Given the description of an element on the screen output the (x, y) to click on. 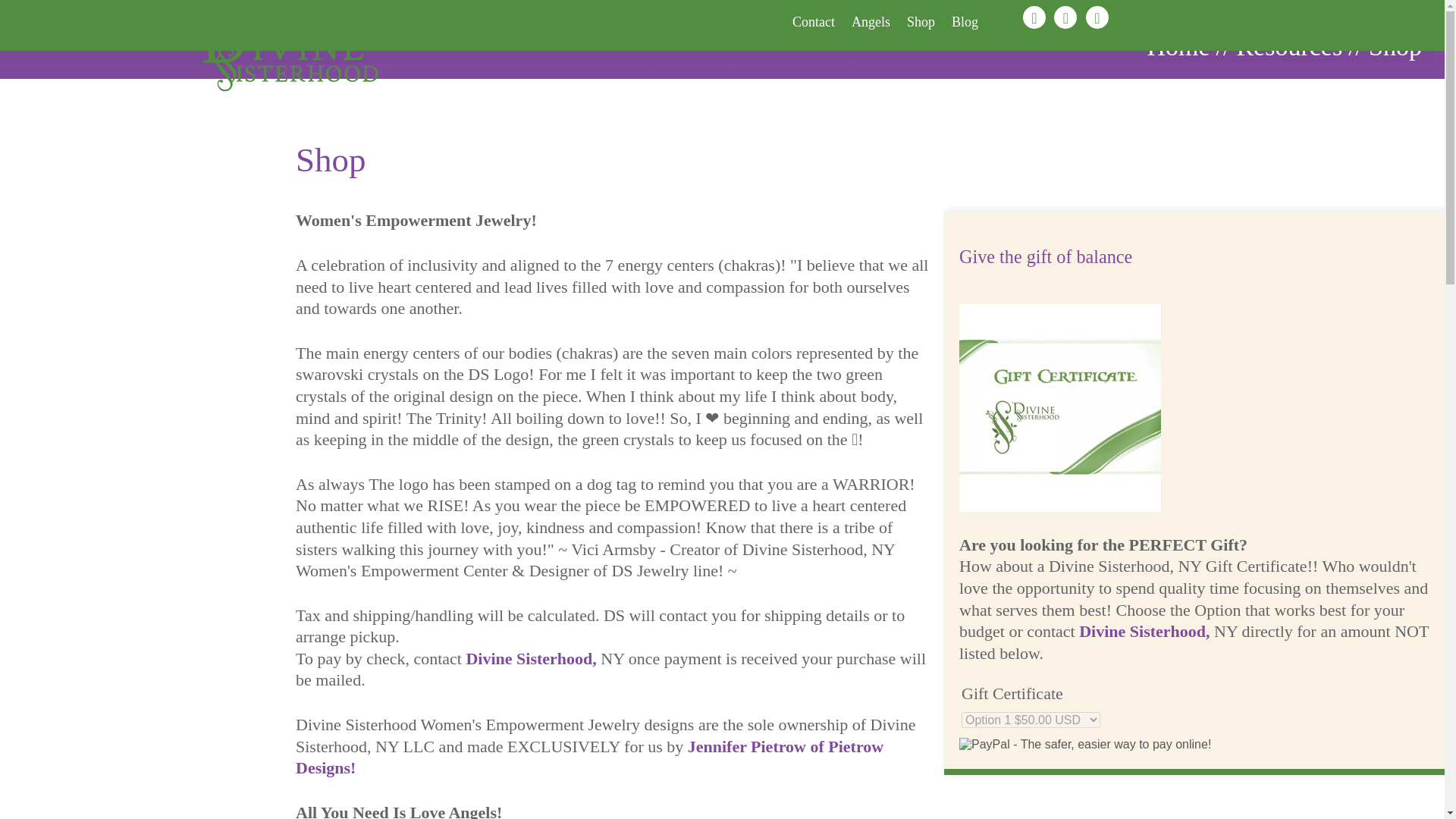
Home (1178, 46)
Angels (870, 21)
YouTube (1097, 16)
Divine Sisterhood Facebook (1034, 16)
Give Back (983, 67)
Facebook (1034, 16)
Resources (1289, 46)
Events (753, 67)
About (665, 67)
Divine Sisterhood, (530, 658)
Jennifer Pietrow of Pietrow Designs! (589, 757)
Get Balanced (863, 67)
Blog (965, 21)
Instagram (1065, 16)
Contact (813, 21)
